Given the description of an element on the screen output the (x, y) to click on. 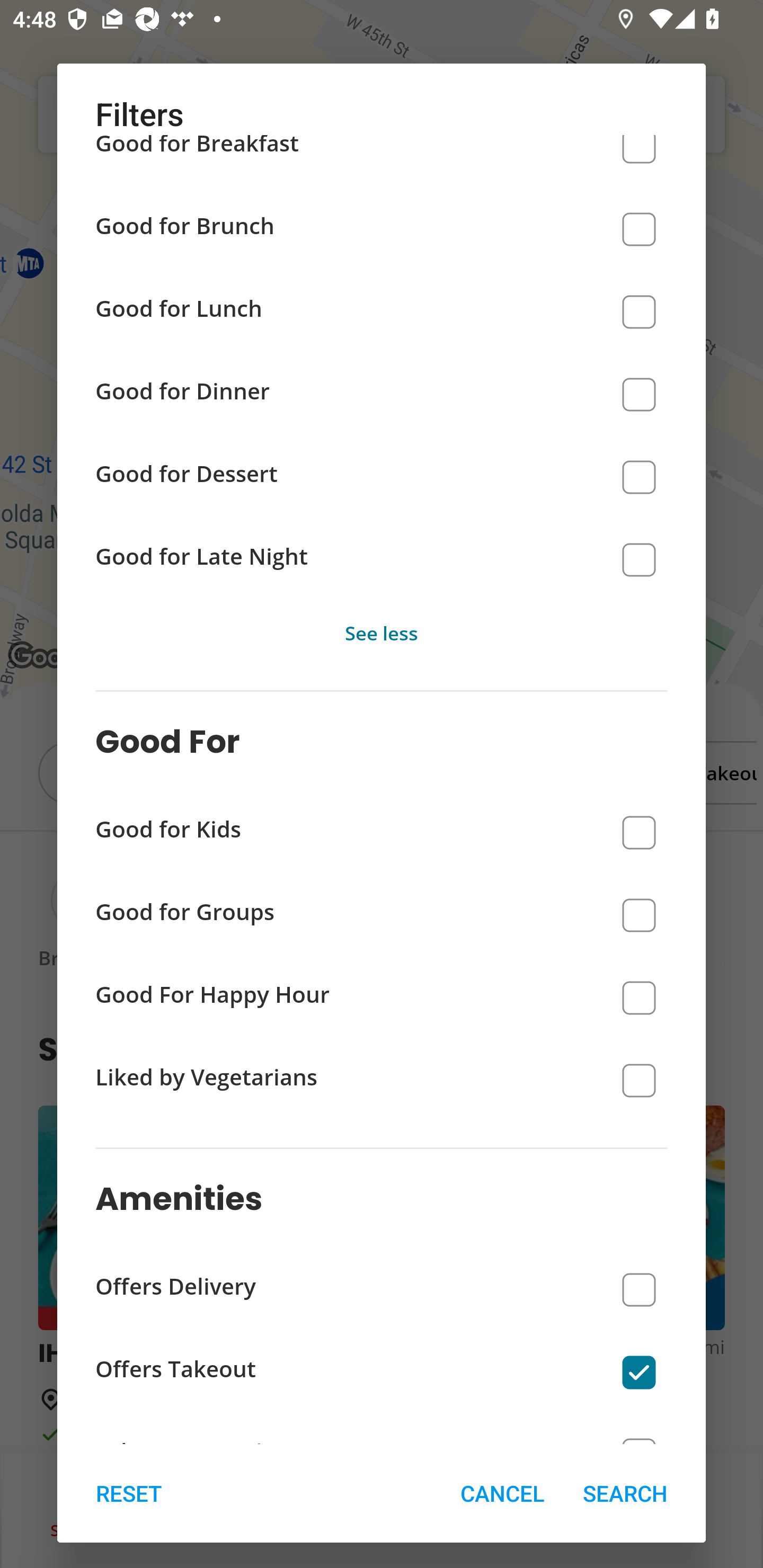
SEARCH (624, 1493)
